Given the description of an element on the screen output the (x, y) to click on. 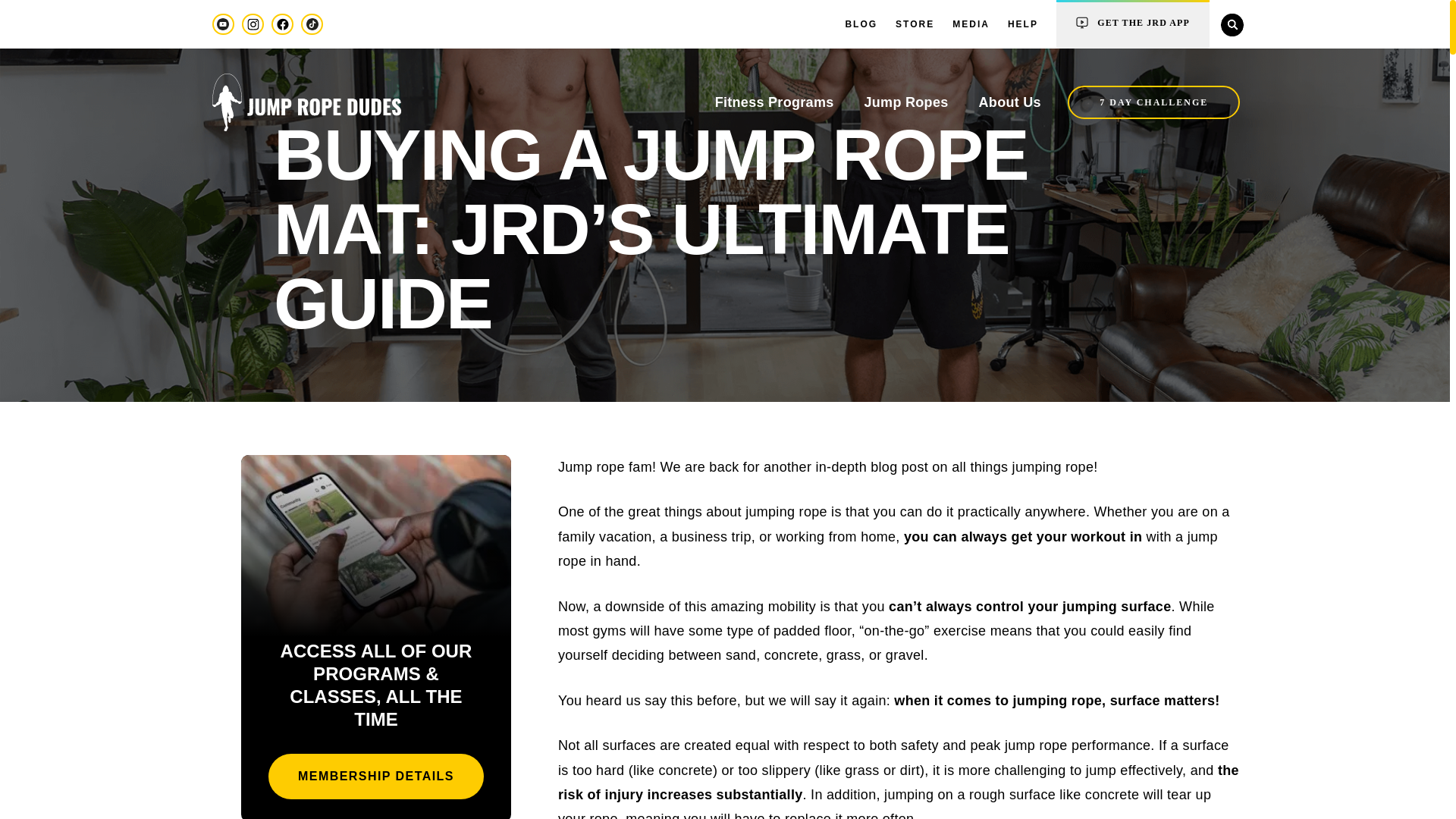
BLOG (861, 24)
Fitness Programs (774, 101)
MEDIA (970, 24)
MEMBERSHIP DETAILS (375, 776)
Jump Ropes (905, 101)
STORE (915, 24)
HELP (1022, 24)
About Us (1010, 101)
GET THE JRD APP (1133, 25)
7 DAY CHALLENGE (1153, 101)
